Given the description of an element on the screen output the (x, y) to click on. 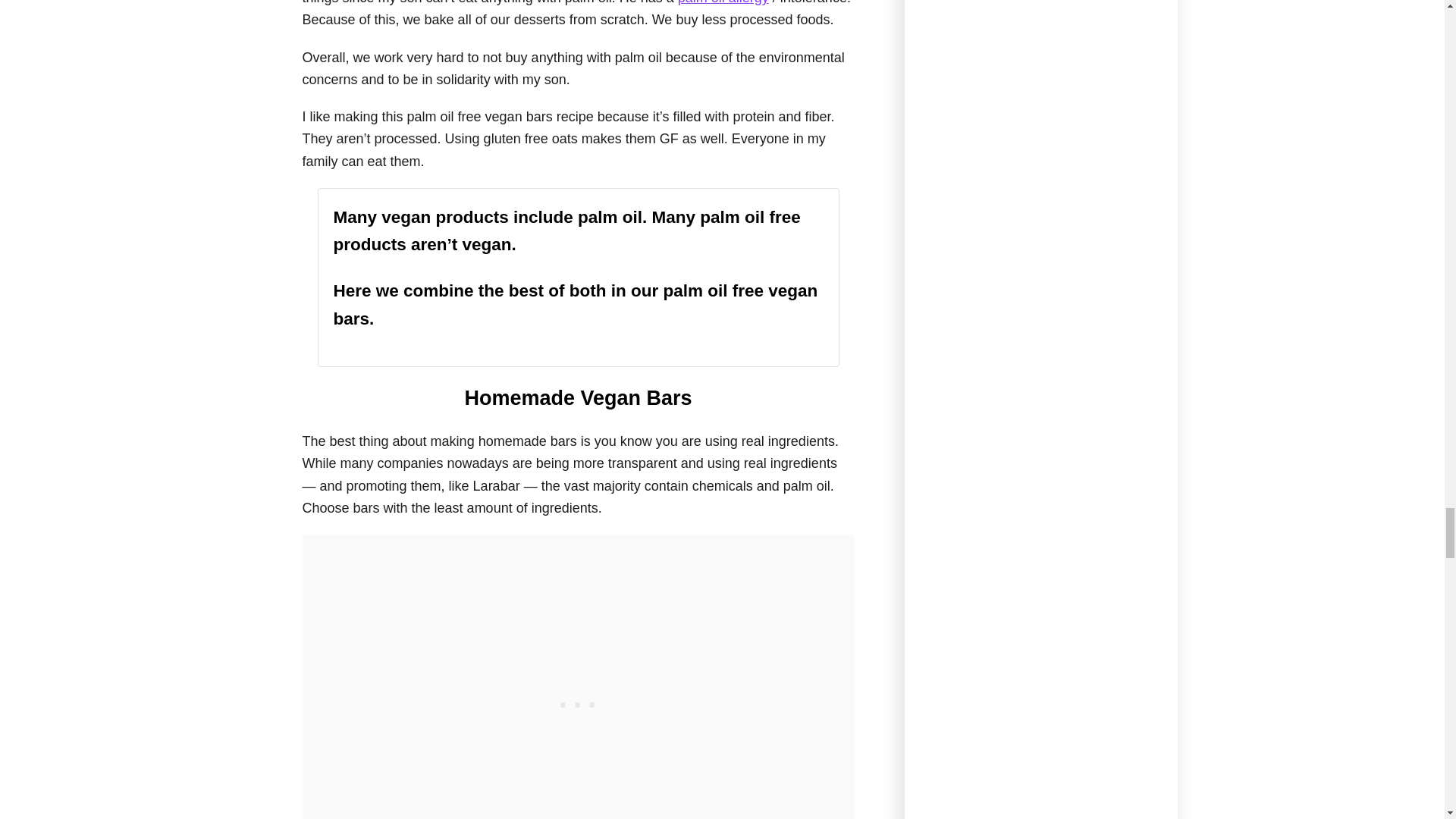
palm oil allergy (723, 2)
